Given the description of an element on the screen output the (x, y) to click on. 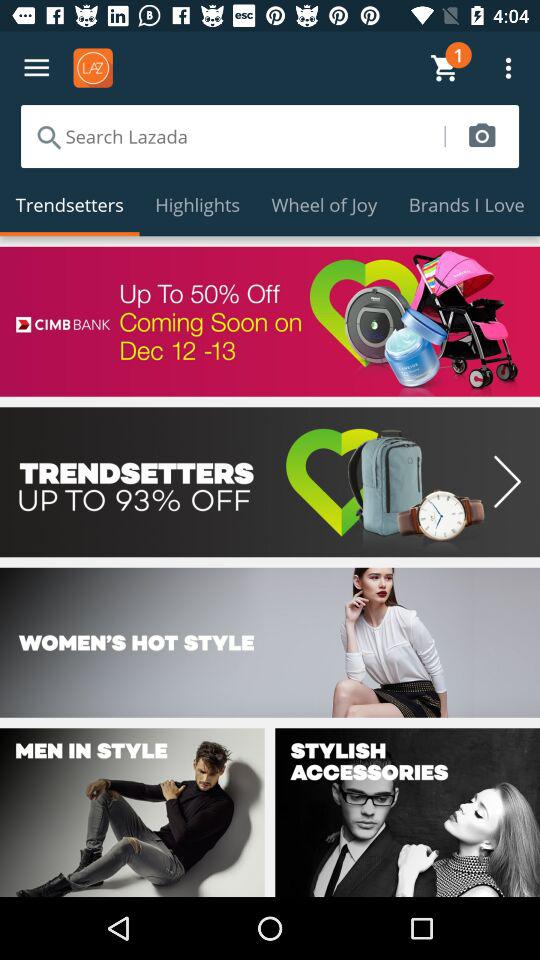
click on trendsetters (270, 482)
